Given the description of an element on the screen output the (x, y) to click on. 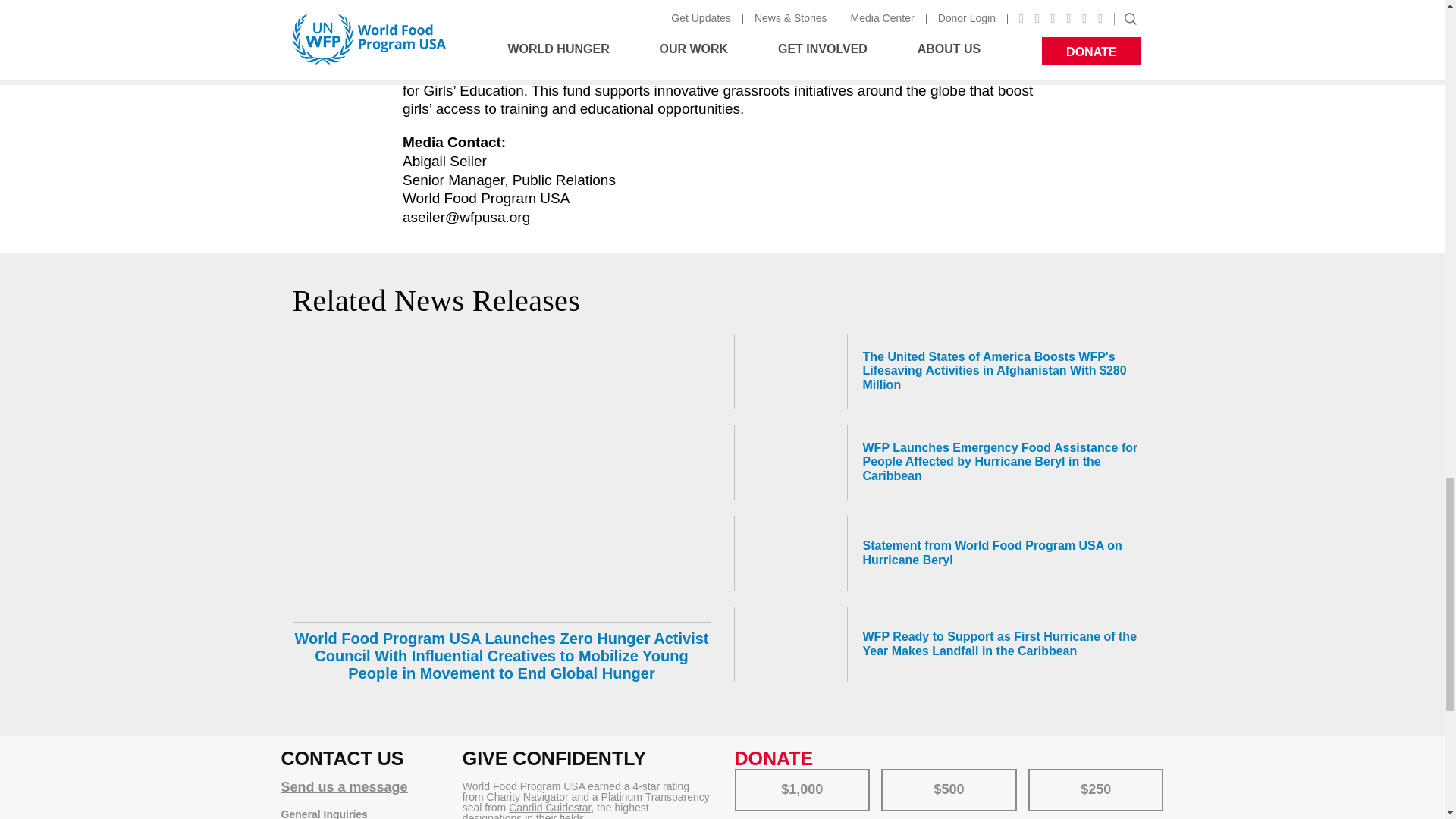
500 (891, 773)
250 (1038, 773)
1,000 (744, 773)
